Given the description of an element on the screen output the (x, y) to click on. 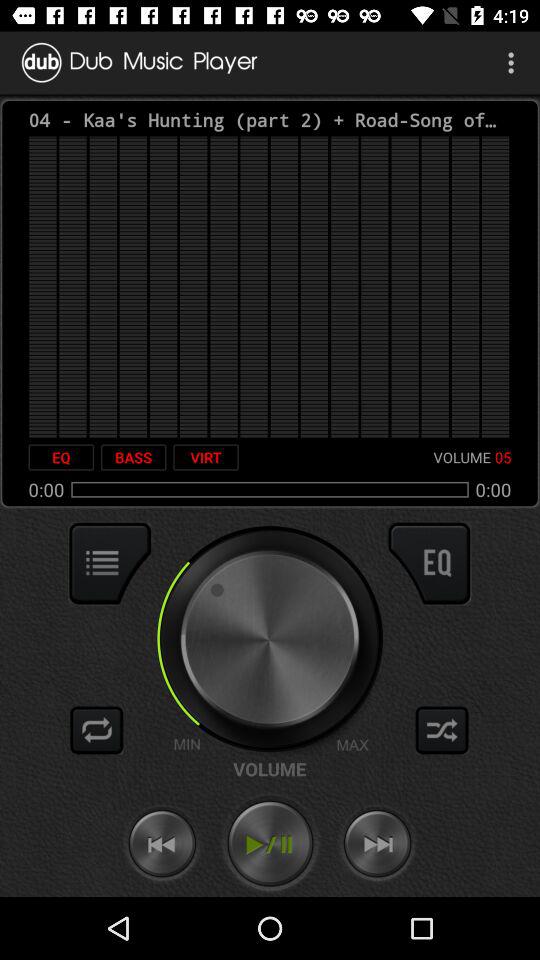
go back (162, 844)
